Given the description of an element on the screen output the (x, y) to click on. 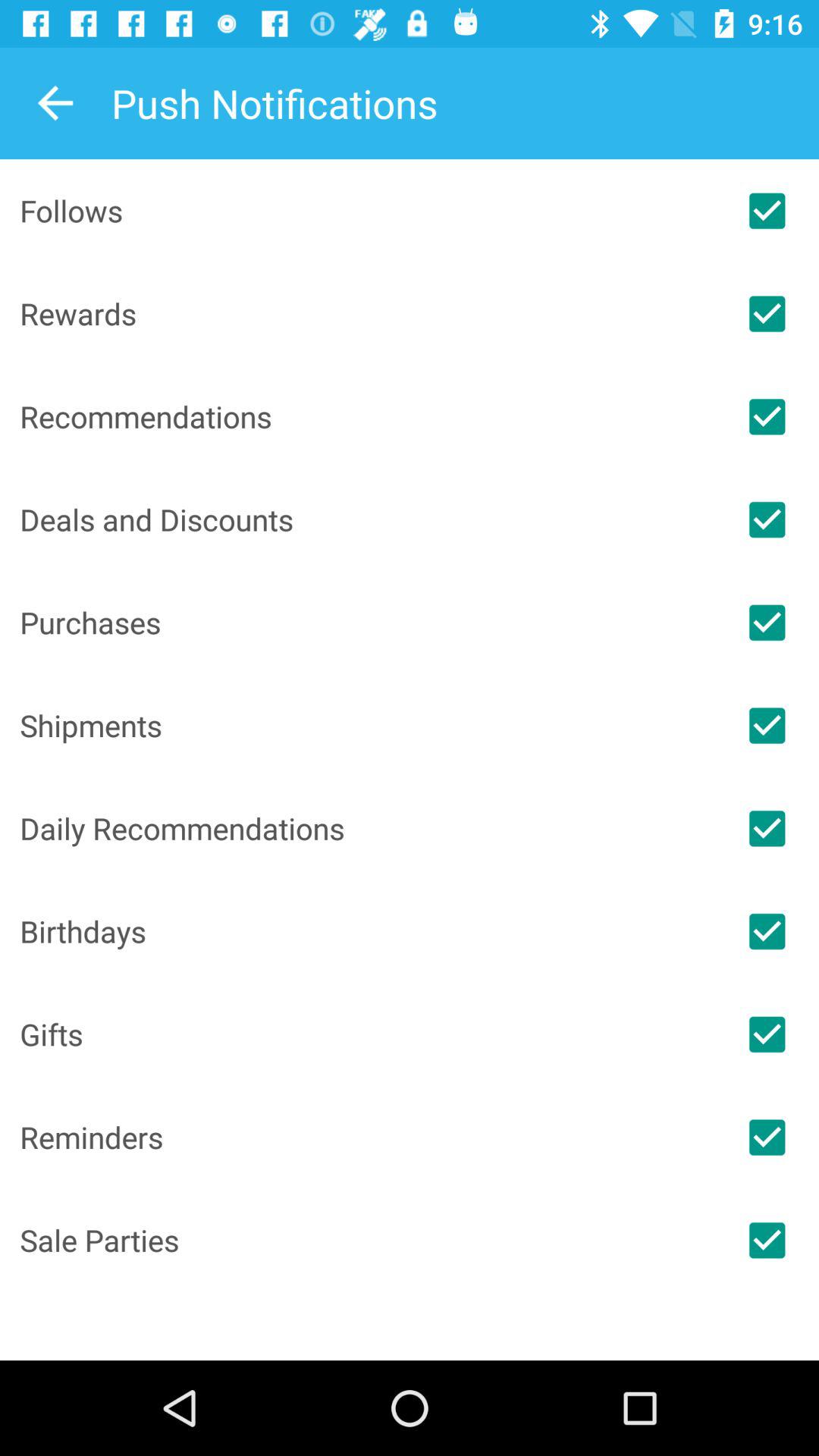
switch the deals and discounts (767, 519)
